Given the description of an element on the screen output the (x, y) to click on. 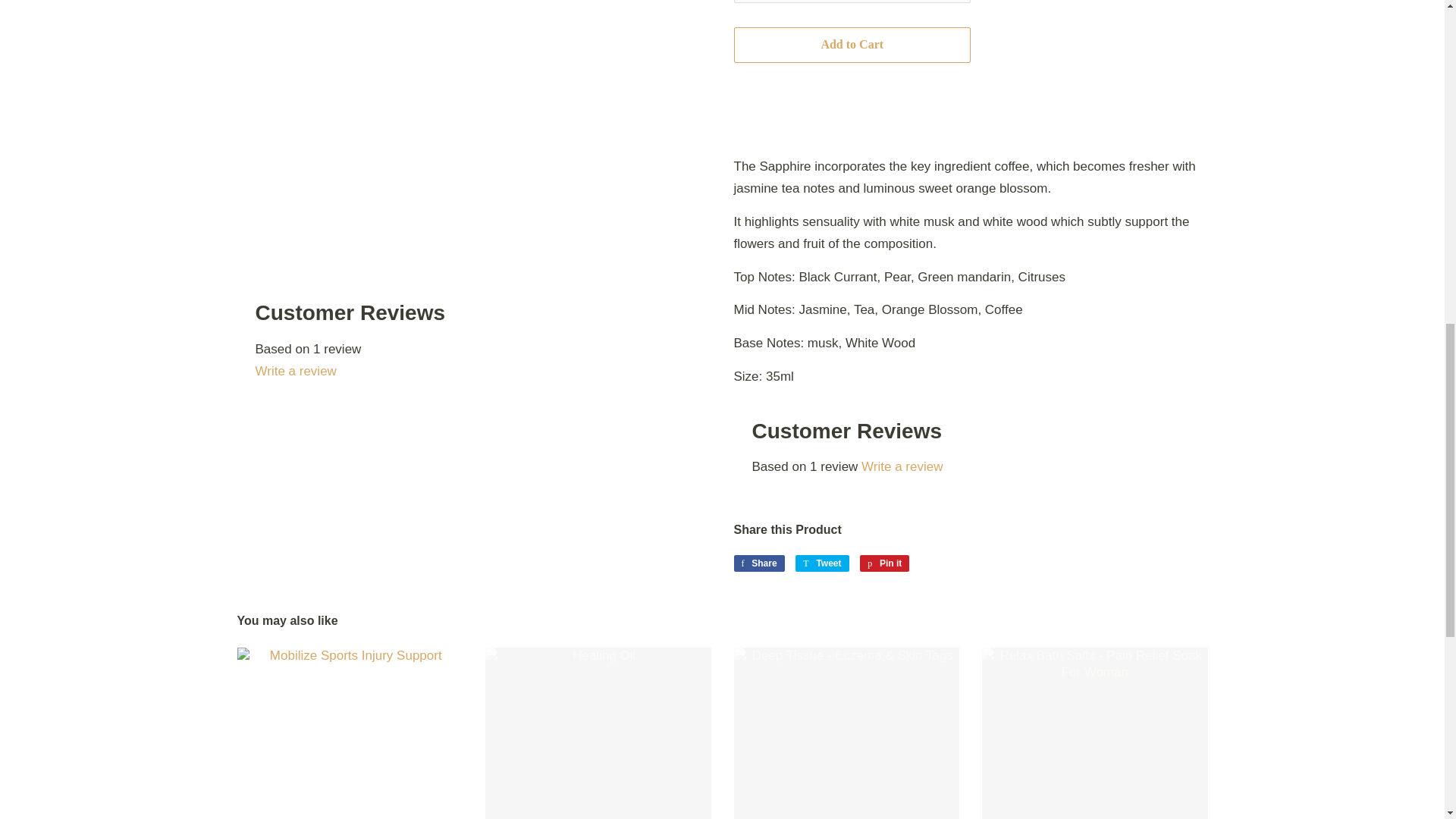
Pin on Pinterest (884, 563)
Add to Cart (852, 45)
Share on Facebook (758, 563)
Tweet on Twitter (821, 563)
1 (852, 1)
Write a review (473, 372)
